Given the description of an element on the screen output the (x, y) to click on. 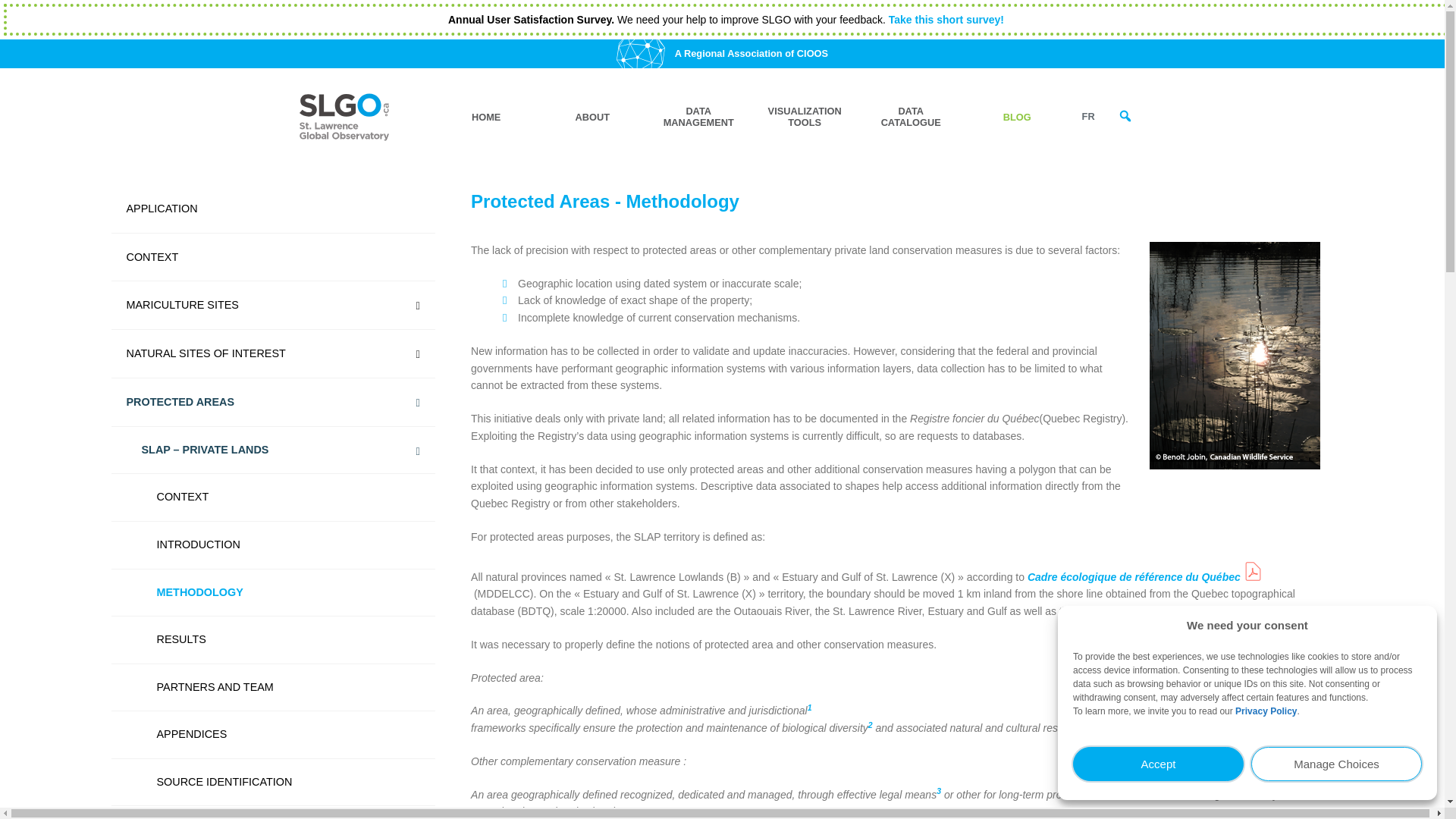
Manage Choices (1336, 763)
VISUALIZATION TOOLS (804, 117)
PROTECTED AREAS (271, 402)
MARICULTURE SITES (271, 305)
NATURAL SITES OF INTEREST (271, 354)
Accept (1158, 763)
Privacy Policy (1265, 710)
DATA CATALOGUE (910, 117)
HOME (485, 116)
BLOG (1016, 116)
ABOUT (591, 116)
FR (1088, 117)
CONTEXT (271, 257)
DATA MANAGEMENT (698, 117)
APPLICATION (271, 209)
